Given the description of an element on the screen output the (x, y) to click on. 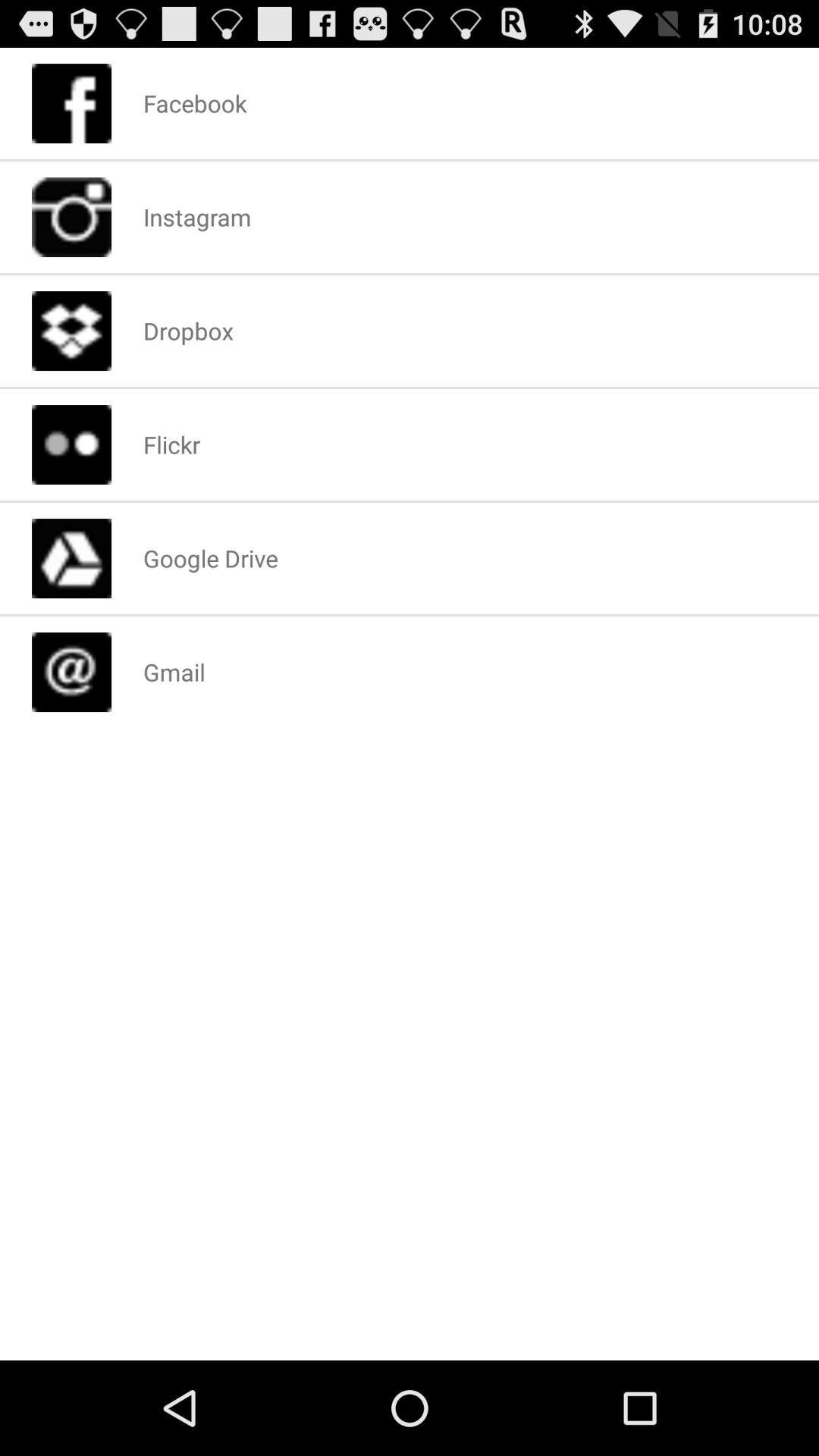
launch item below flickr icon (210, 558)
